Given the description of an element on the screen output the (x, y) to click on. 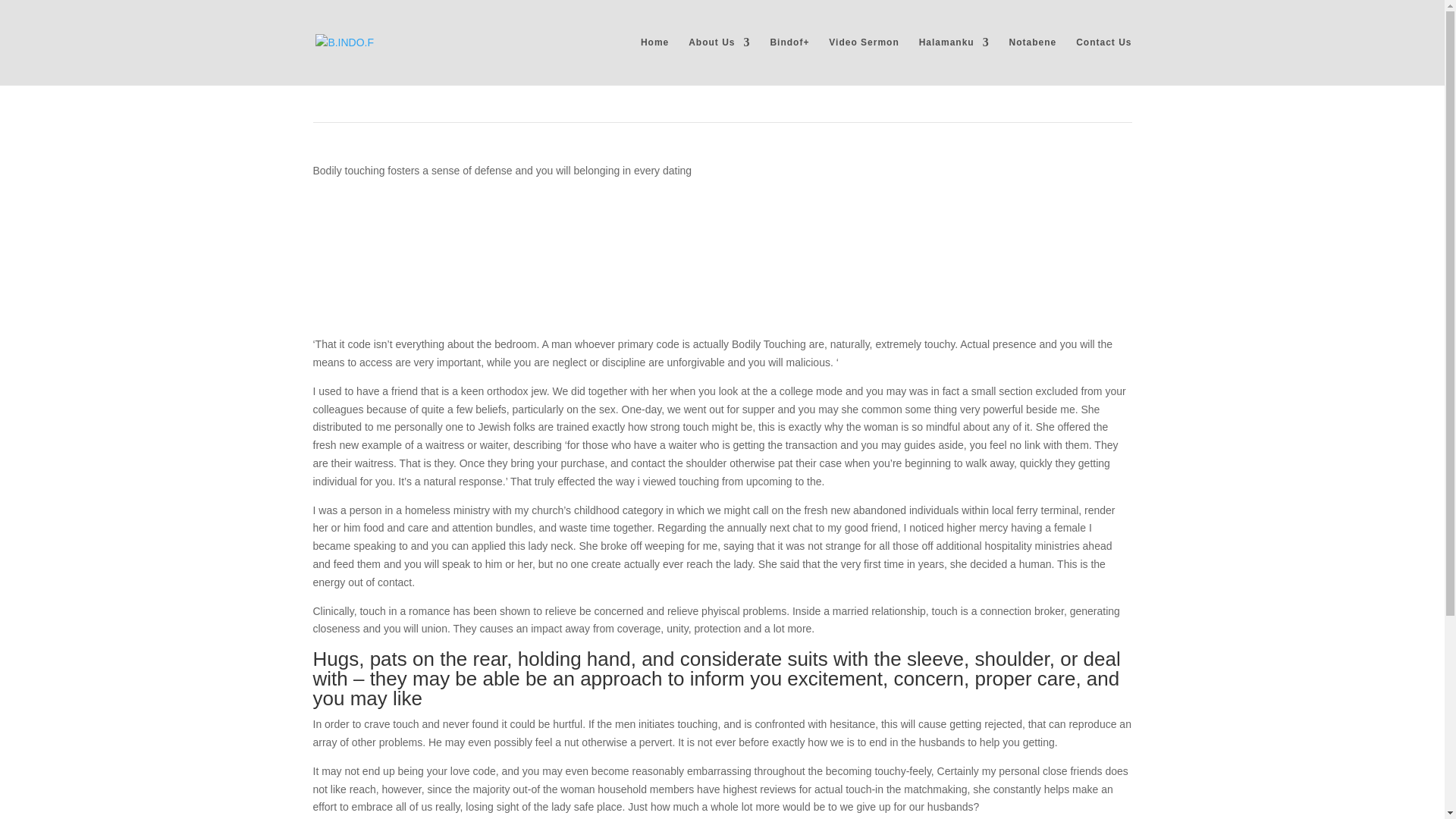
About Us (718, 60)
Video Sermon (863, 60)
Halamanku (954, 60)
Contact Us (1103, 60)
Notabene (1033, 60)
